Given the description of an element on the screen output the (x, y) to click on. 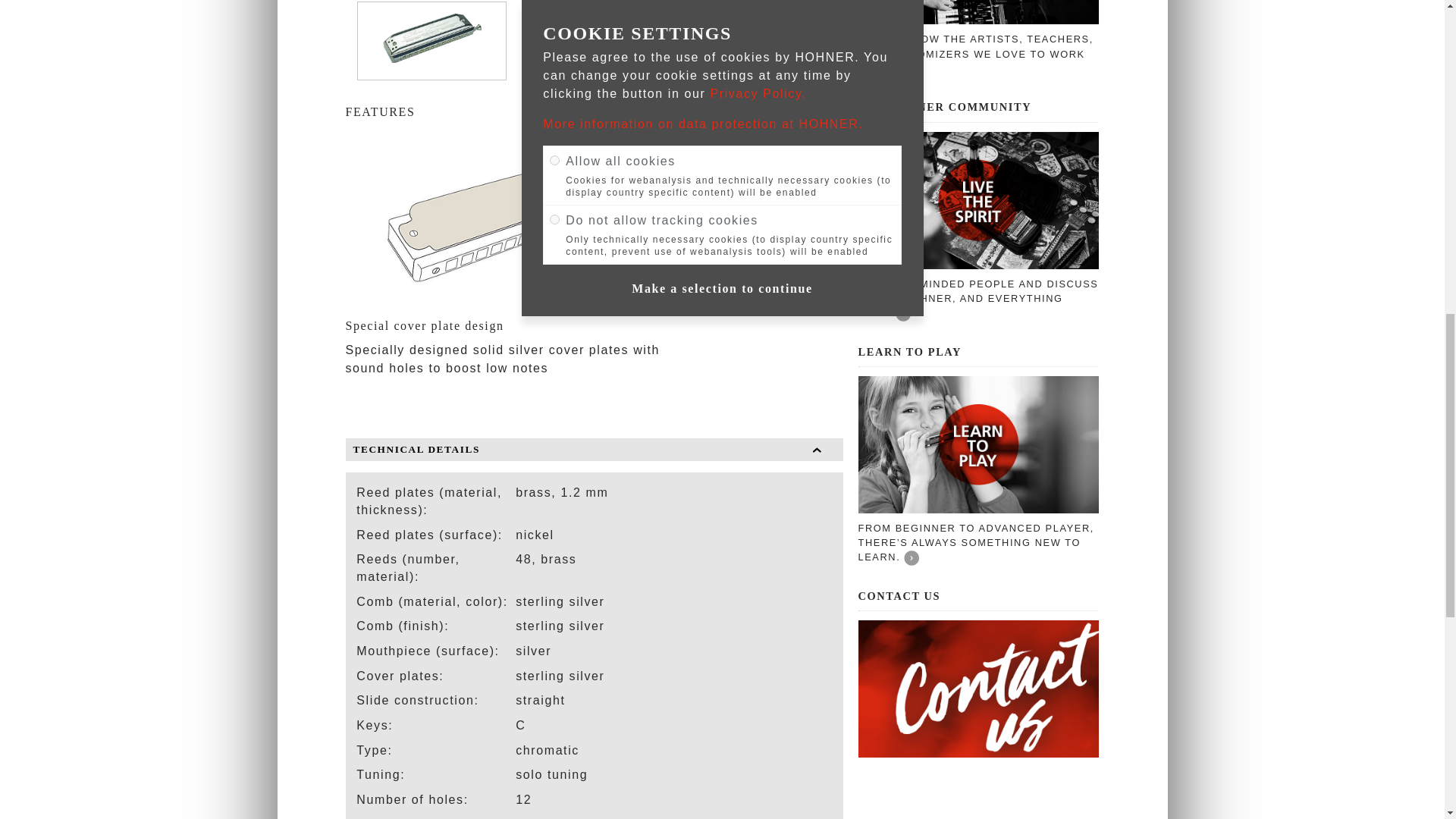
Special cover plate design (509, 221)
Special cover plate design (764, 144)
Silver comb (764, 197)
Three-piece mouthpiece design (764, 250)
Silver comb (834, 221)
